Given the description of an element on the screen output the (x, y) to click on. 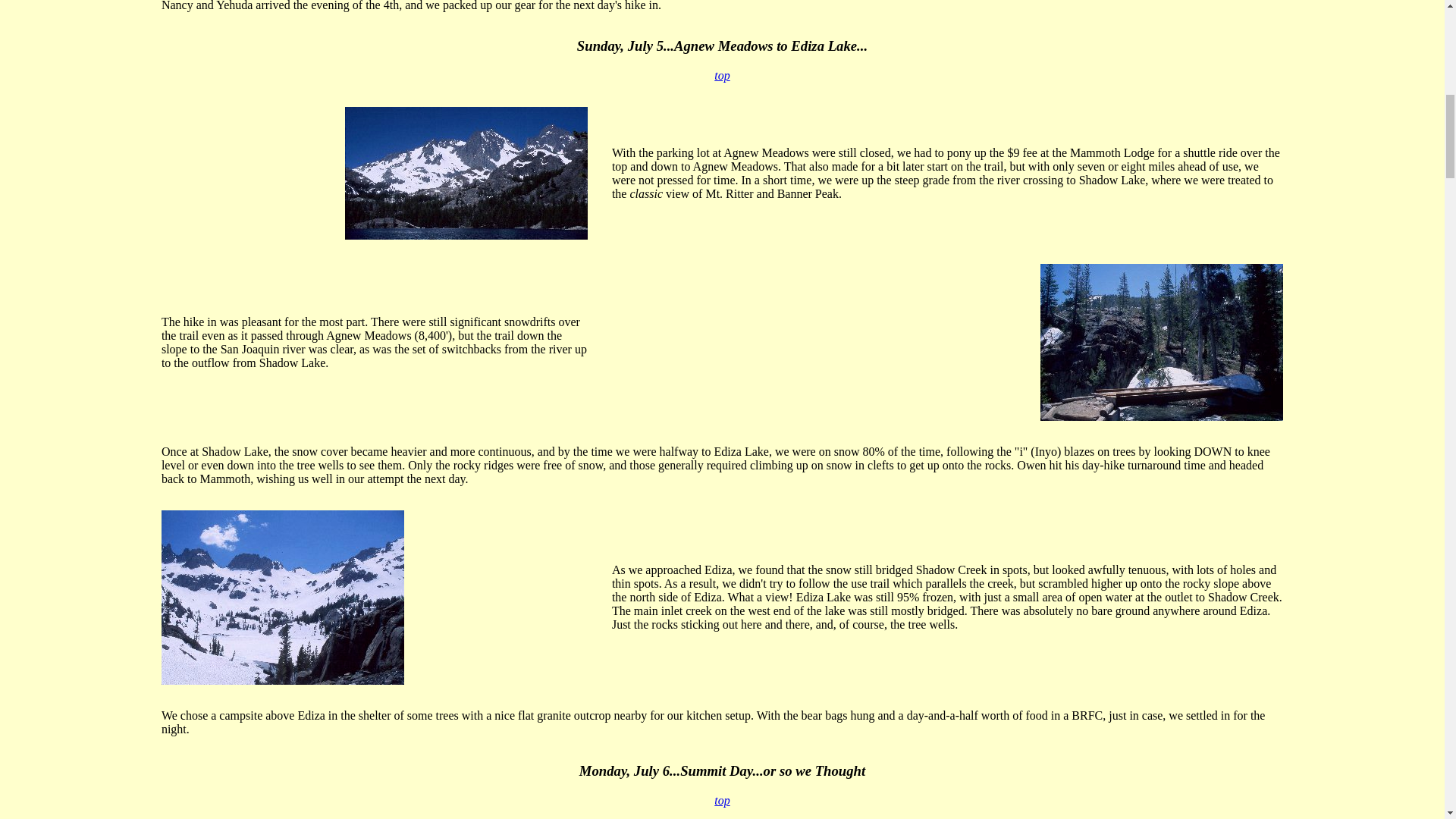
top (721, 74)
Monday, July 6...Summit Day...or so we Thought (721, 770)
Sunday, July 5...Agnew Meadows to Ediza Lake... (721, 45)
